Given the description of an element on the screen output the (x, y) to click on. 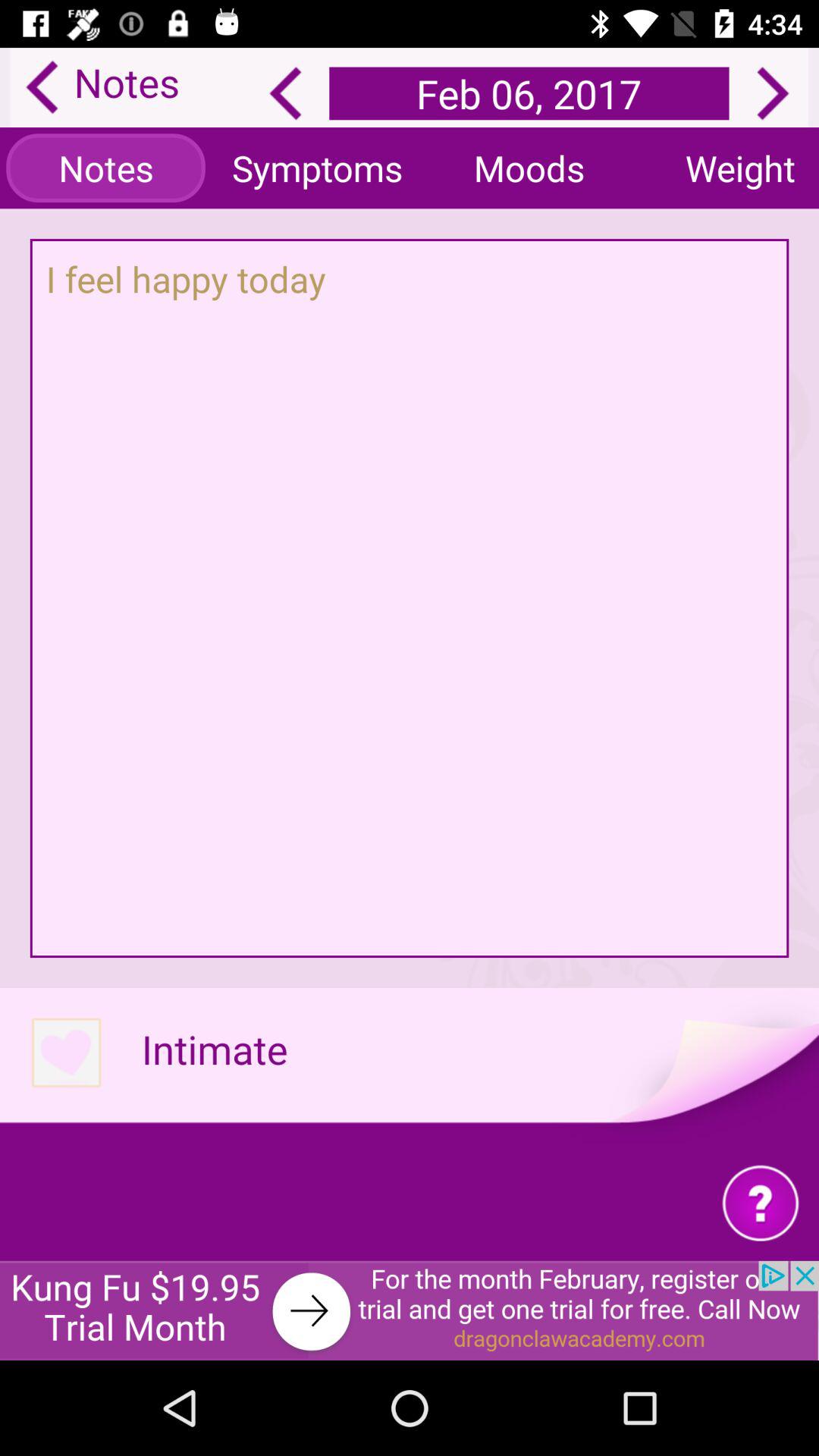
toggle intimate option (65, 1053)
